Given the description of an element on the screen output the (x, y) to click on. 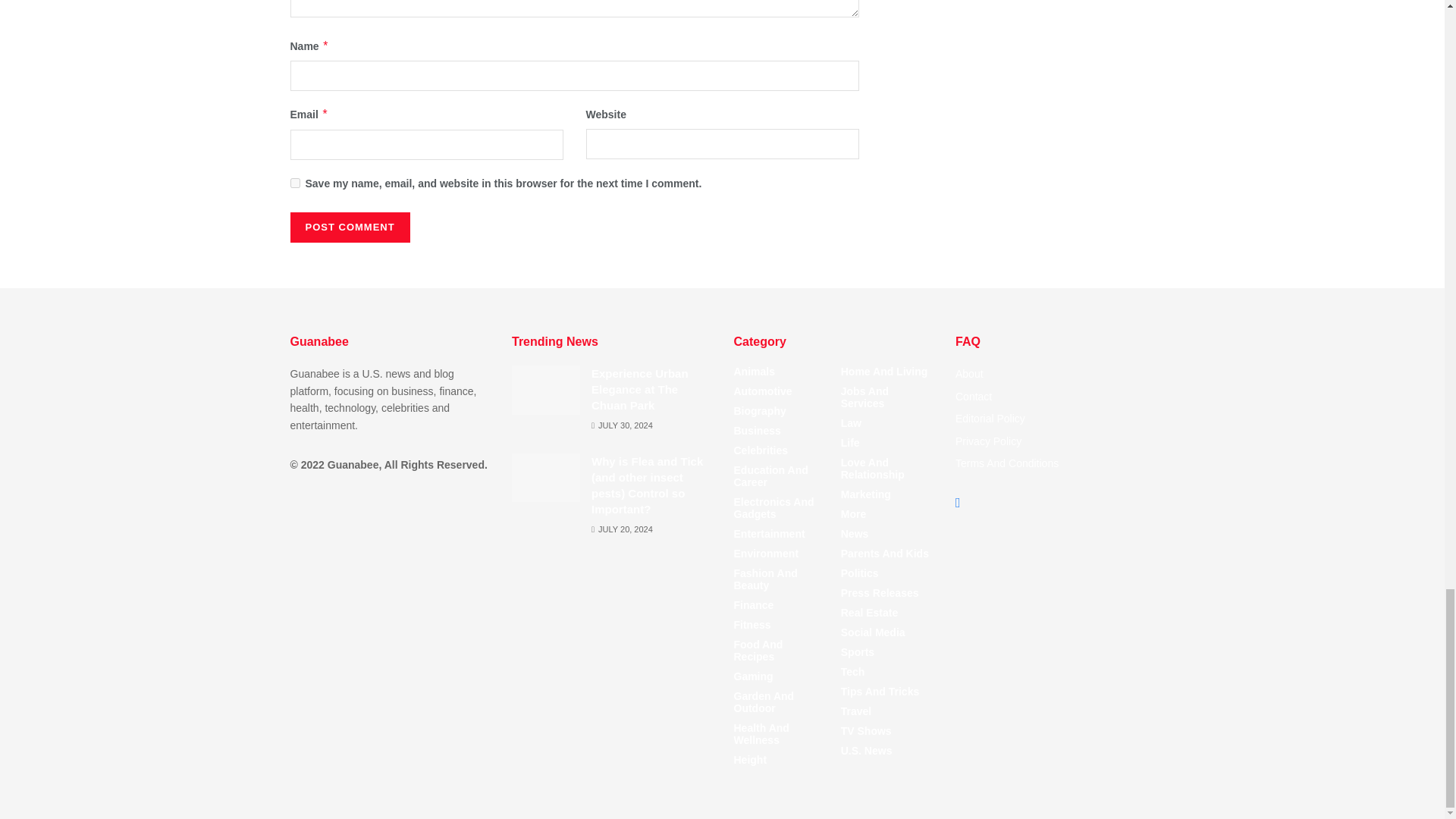
Post Comment (349, 227)
yes (294, 183)
